Given the description of an element on the screen output the (x, y) to click on. 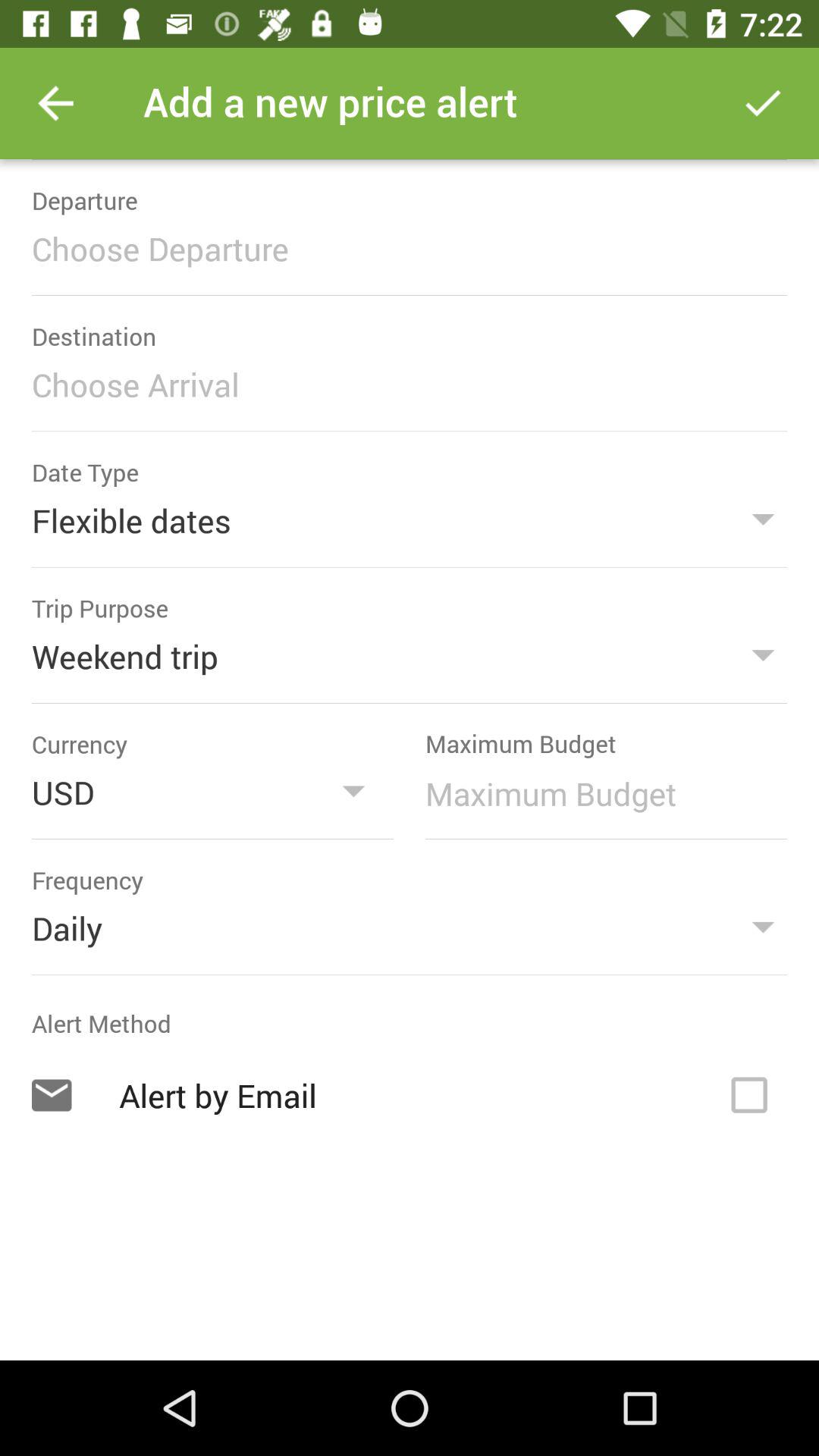
turn on item to the left of the add a new item (55, 103)
